Given the description of an element on the screen output the (x, y) to click on. 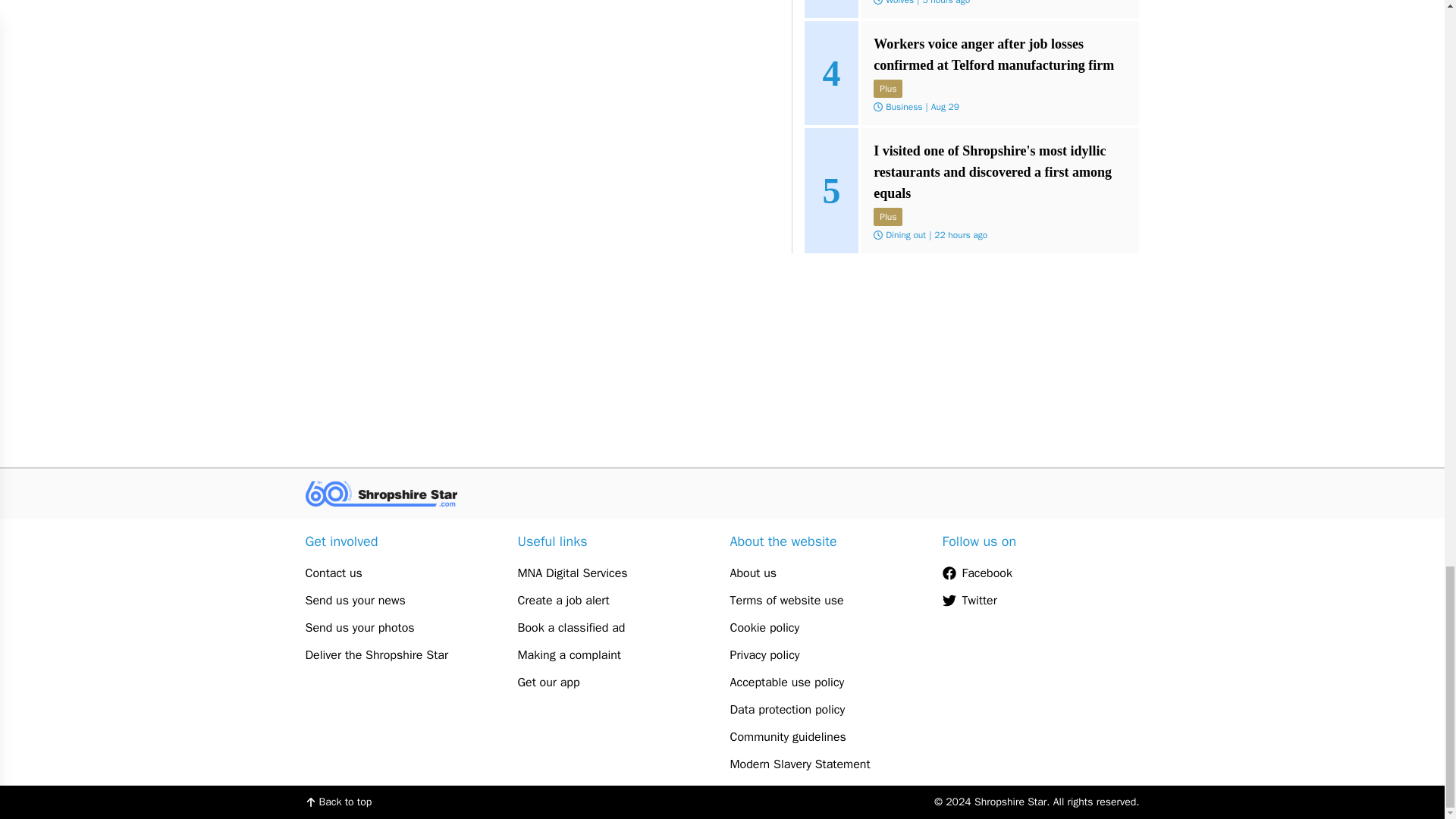
Contact us (403, 573)
Business (903, 106)
Wolves (899, 2)
Dining out (905, 234)
